Given the description of an element on the screen output the (x, y) to click on. 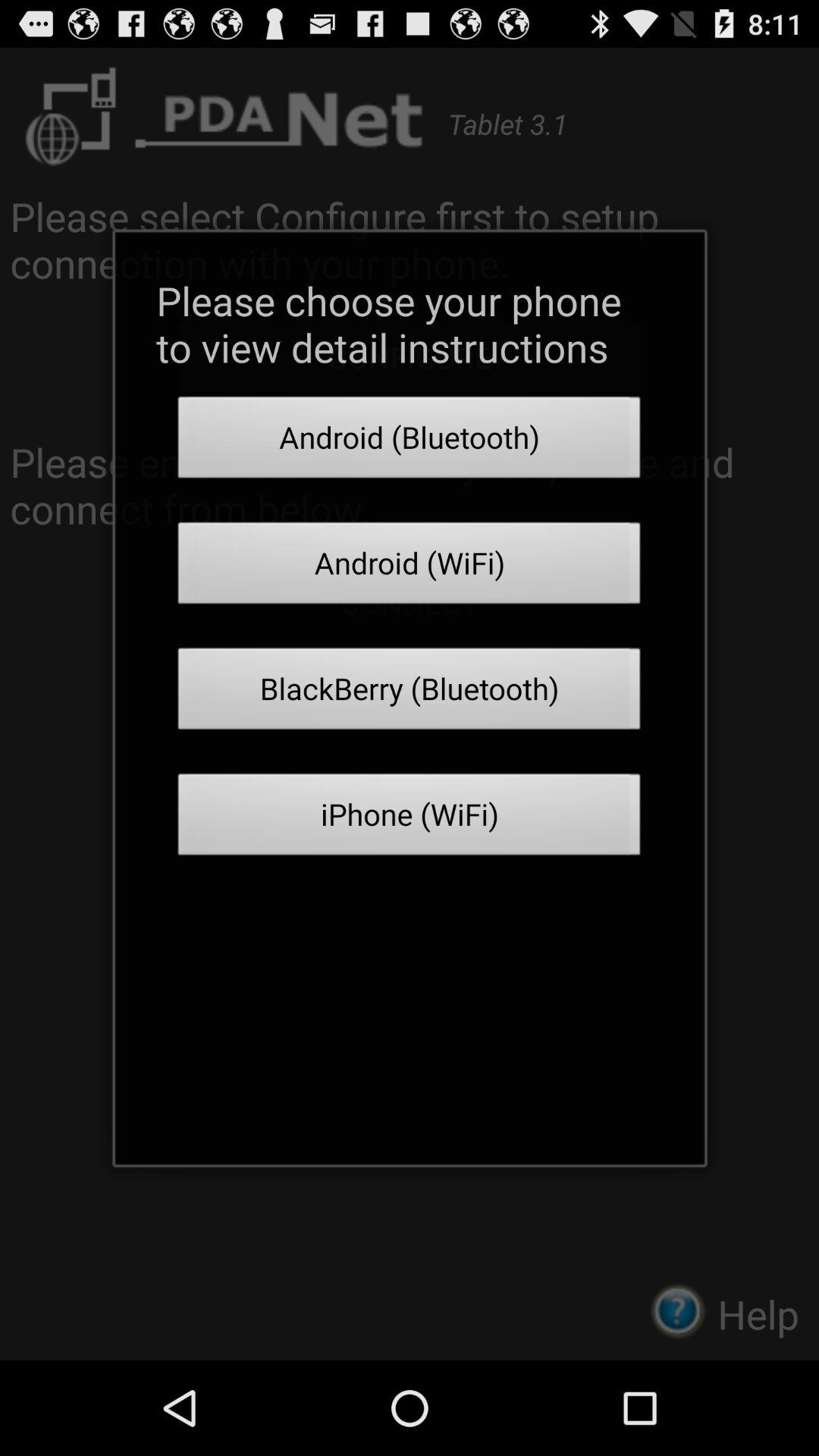
turn off iphone (wifi) item (409, 818)
